Given the description of an element on the screen output the (x, y) to click on. 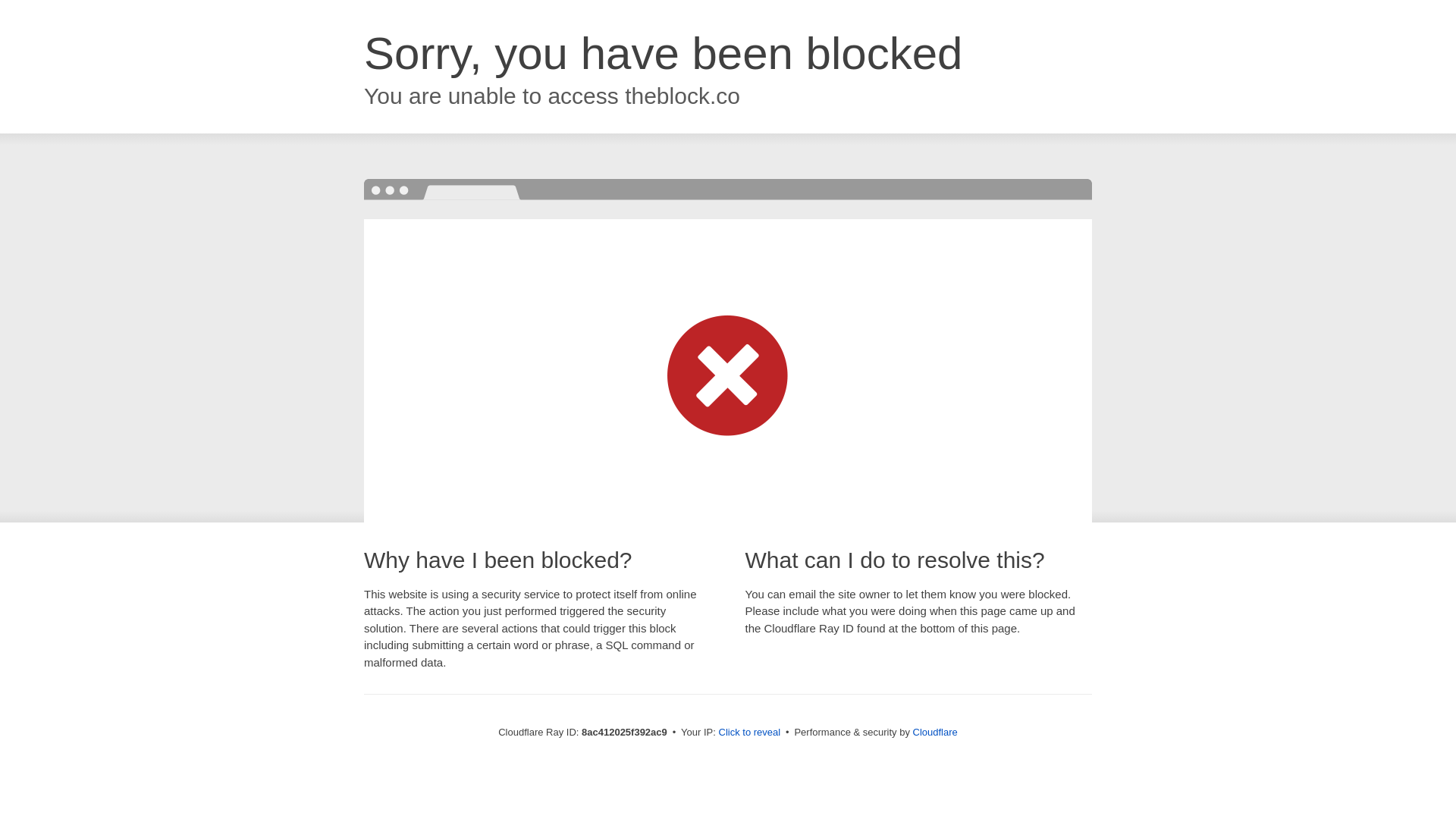
Click to reveal (749, 732)
Cloudflare (935, 731)
